Given the description of an element on the screen output the (x, y) to click on. 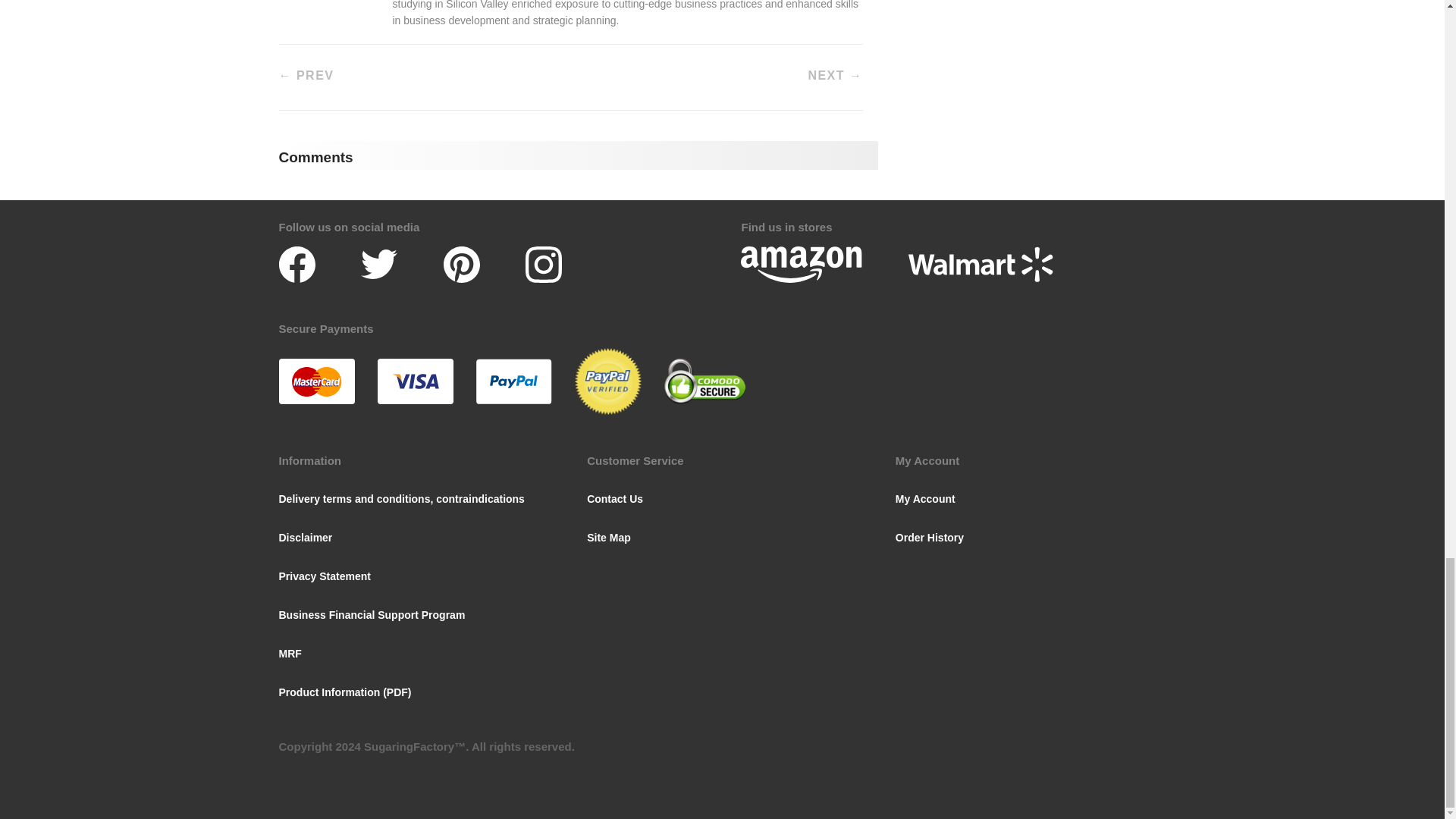
PayPal (513, 381)
Comodo (704, 381)
PayPal Verified (608, 381)
Wallmart (980, 264)
Mastercard (317, 381)
VISA (414, 381)
